Given the description of an element on the screen output the (x, y) to click on. 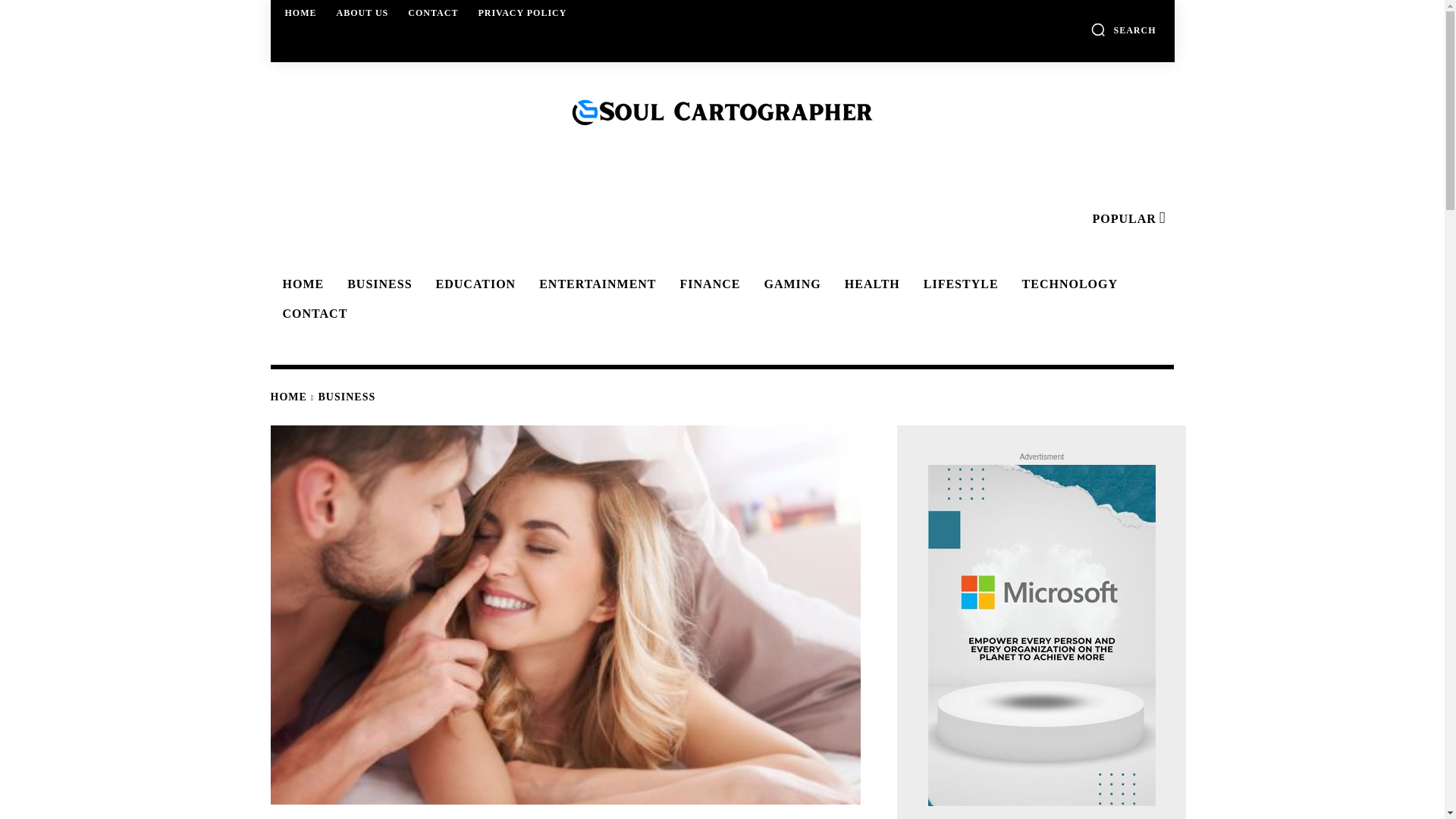
HOME (301, 12)
ABOUT US (362, 12)
POPULAR (1126, 218)
CONTACT (312, 313)
EDUCATION (473, 284)
GAMING (789, 284)
HEALTH (869, 284)
TECHNOLOGY (1067, 284)
HOME (287, 396)
CONTACT (432, 12)
ENTERTAINMENT (595, 284)
View all posts in Business (346, 396)
LIFESTYLE (958, 284)
HOME (300, 284)
BUSINESS (376, 284)
